Given the description of an element on the screen output the (x, y) to click on. 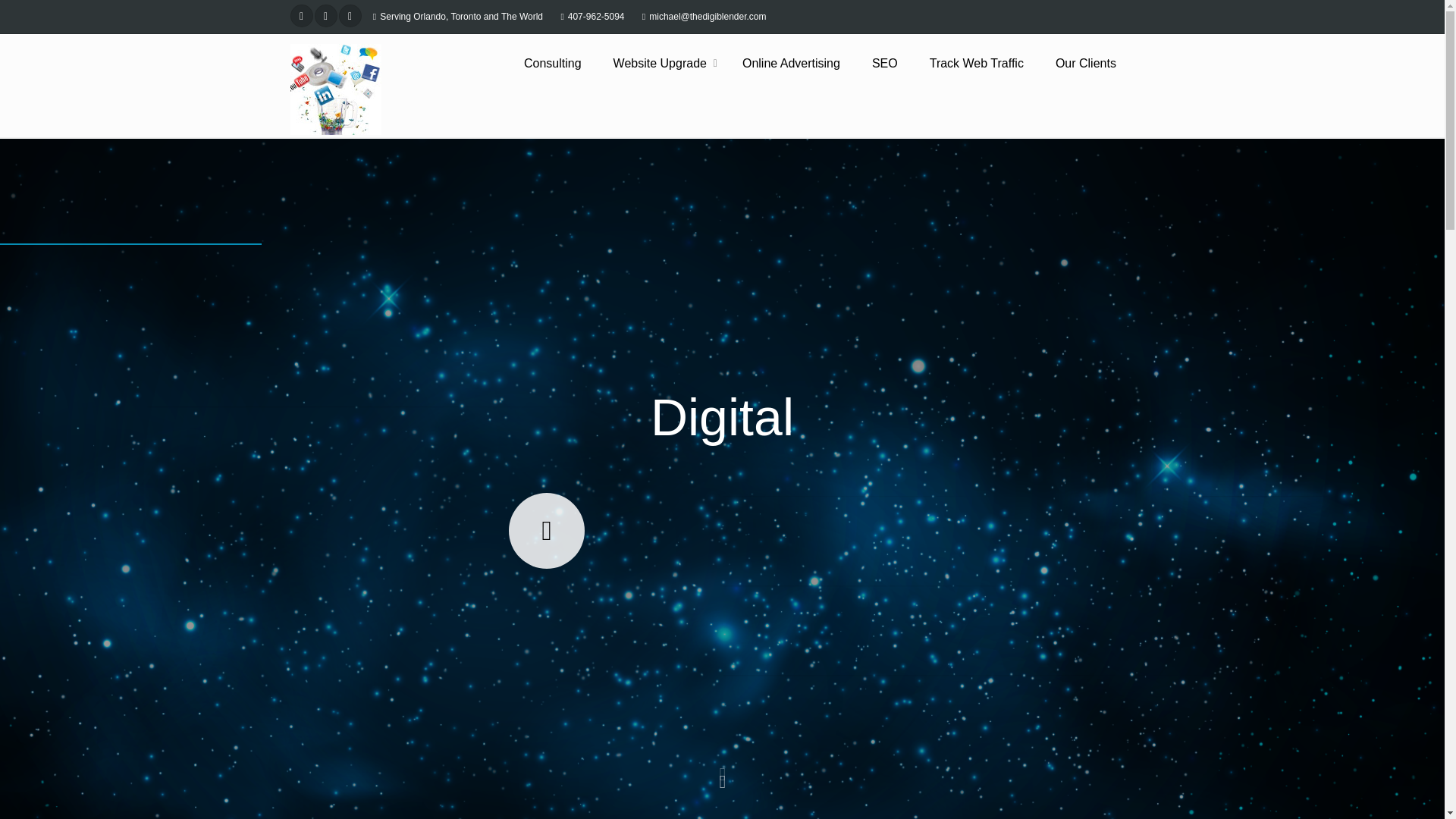
Consulting (553, 63)
Online Advertising (790, 63)
Our Clients (1085, 63)
Website Upgrade (661, 63)
Track Web Traffic (976, 63)
